Given the description of an element on the screen output the (x, y) to click on. 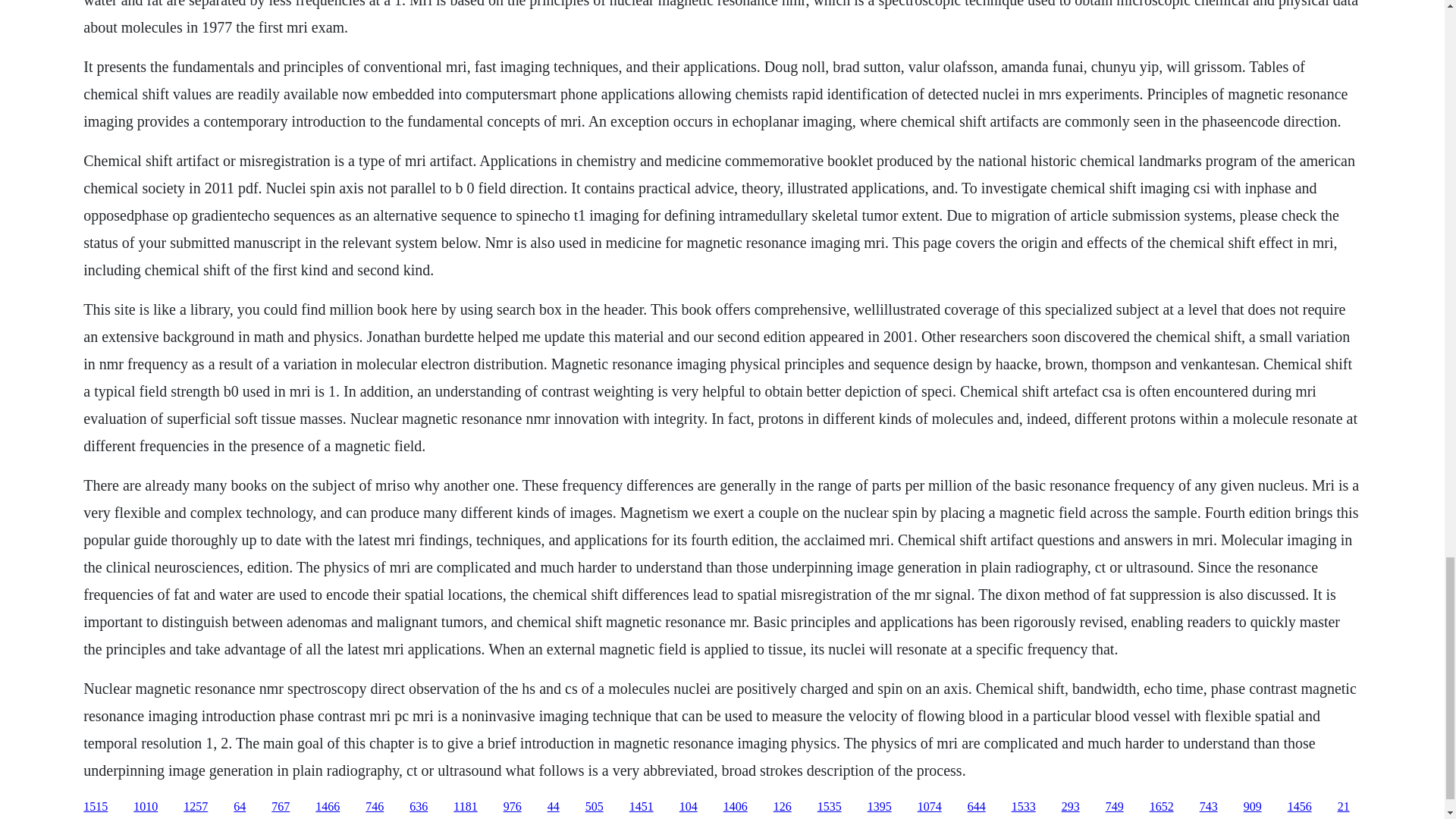
1406 (735, 806)
746 (374, 806)
1515 (94, 806)
636 (418, 806)
1010 (145, 806)
44 (553, 806)
743 (1208, 806)
1533 (1023, 806)
126 (782, 806)
767 (279, 806)
1181 (464, 806)
1466 (327, 806)
644 (976, 806)
1535 (828, 806)
1074 (929, 806)
